Given the description of an element on the screen output the (x, y) to click on. 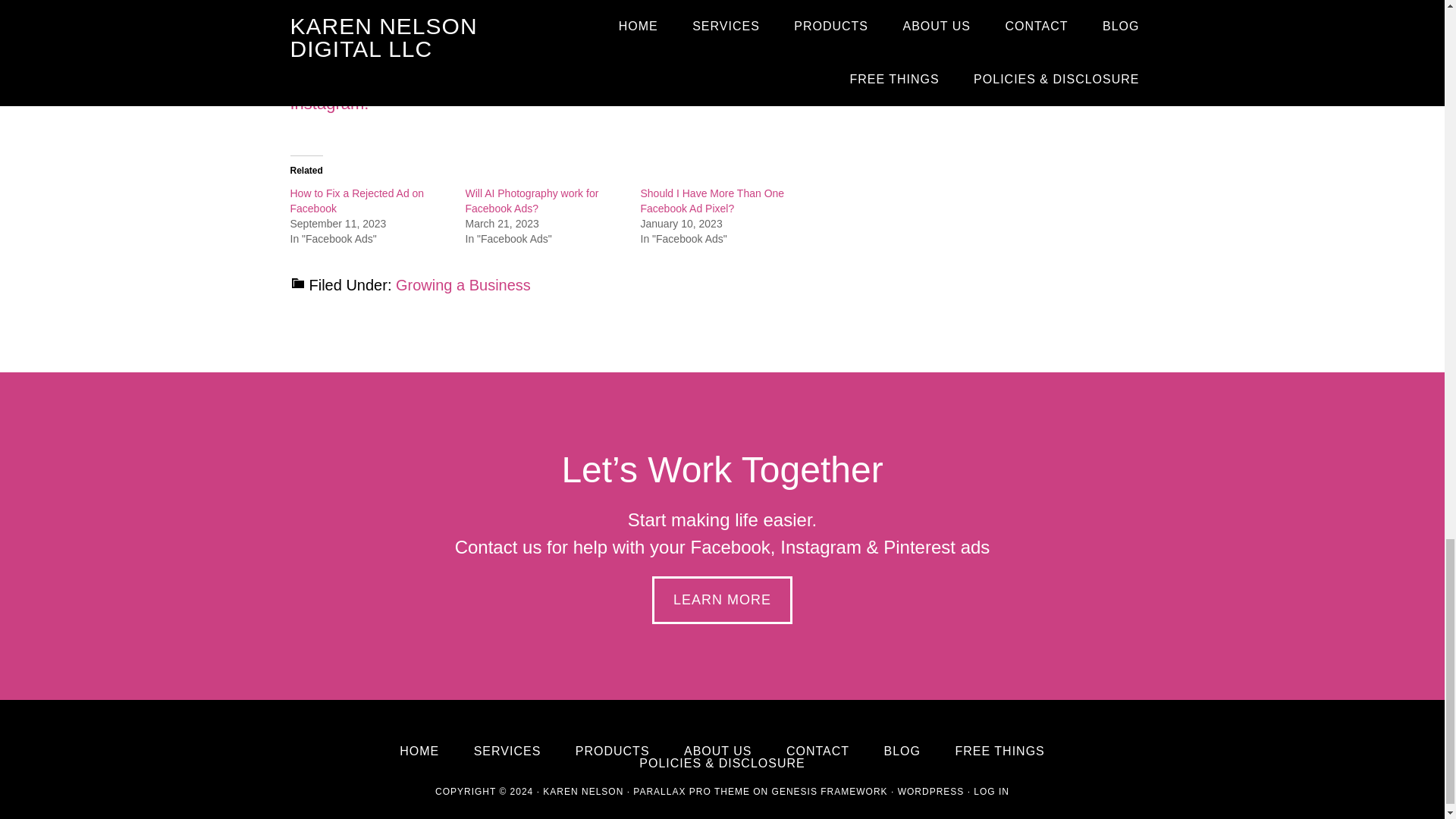
How to Fix a Rejected Ad on Facebook (356, 200)
Will AI Photography work for Facebook Ads? (531, 200)
BLOG (901, 751)
SERVICES (507, 751)
LEARN MORE (722, 600)
CONTACT (817, 751)
PRODUCTS (612, 751)
How to Fix a Rejected Ad on Facebook (356, 200)
DM me on Instagram. (535, 90)
ABOUT US (718, 751)
HOME (418, 751)
Growing a Business (463, 284)
Will AI Photography work for Facebook Ads? (531, 200)
FREE THINGS (999, 751)
